Given the description of an element on the screen output the (x, y) to click on. 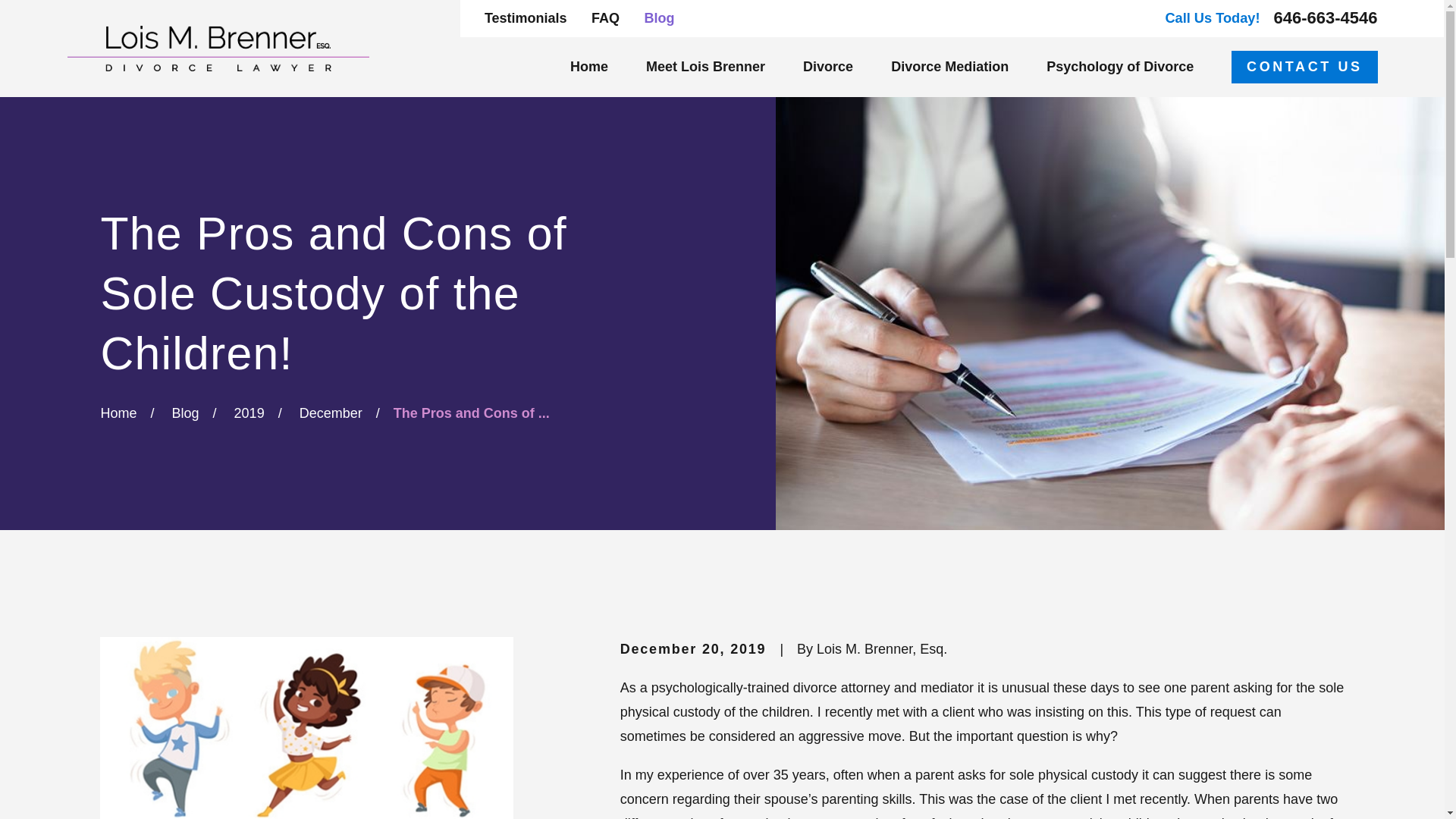
Go Home (118, 412)
Blog (658, 17)
Psychology of Divorce (1119, 66)
FAQ (605, 17)
Divorce (828, 66)
Meet Lois Brenner (705, 66)
646-663-4546 (1325, 17)
Home (217, 48)
Home (589, 66)
Divorce Mediation (950, 66)
Testimonials (525, 17)
